Given the description of an element on the screen output the (x, y) to click on. 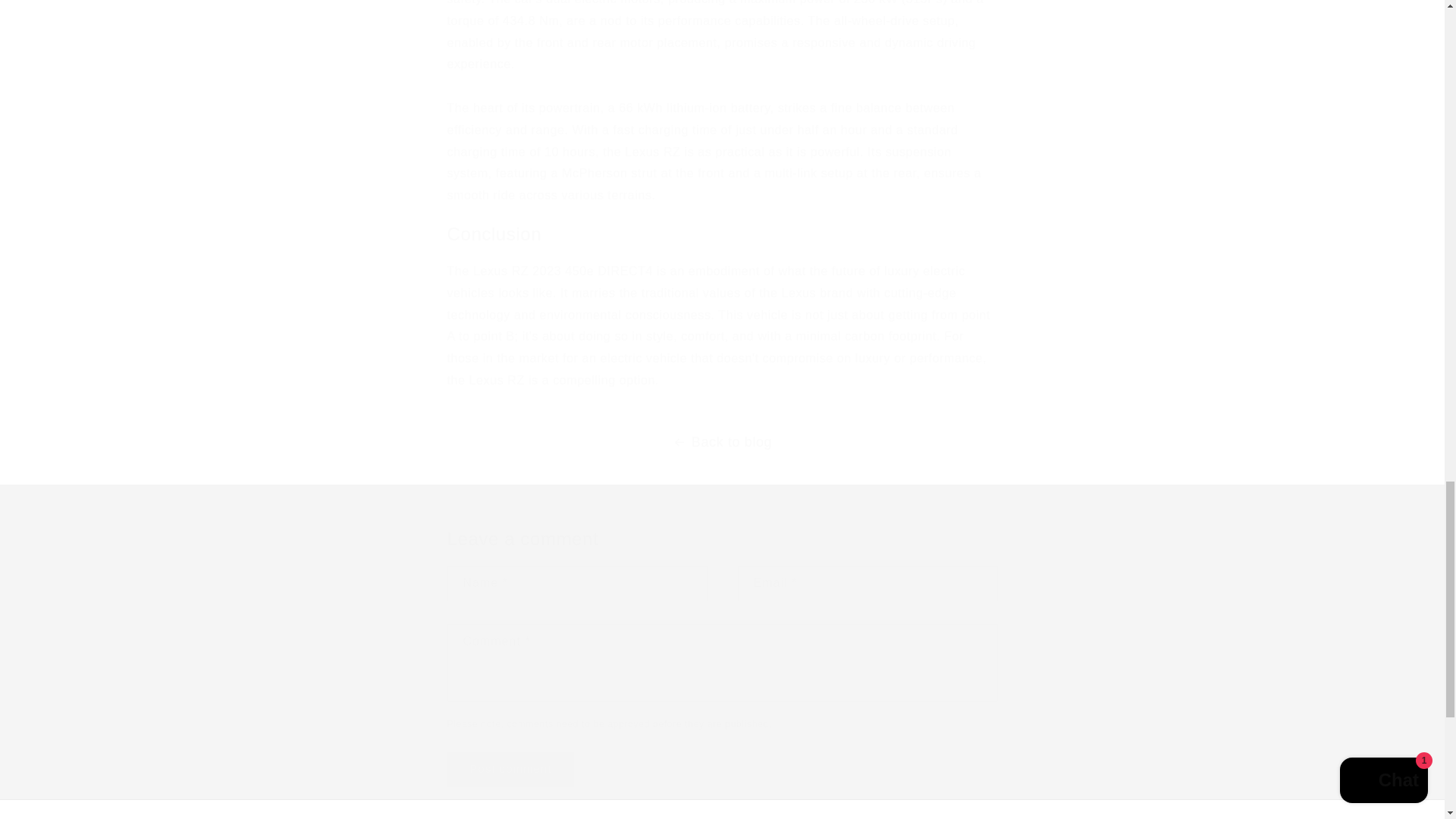
Post comment (510, 769)
